Given the description of an element on the screen output the (x, y) to click on. 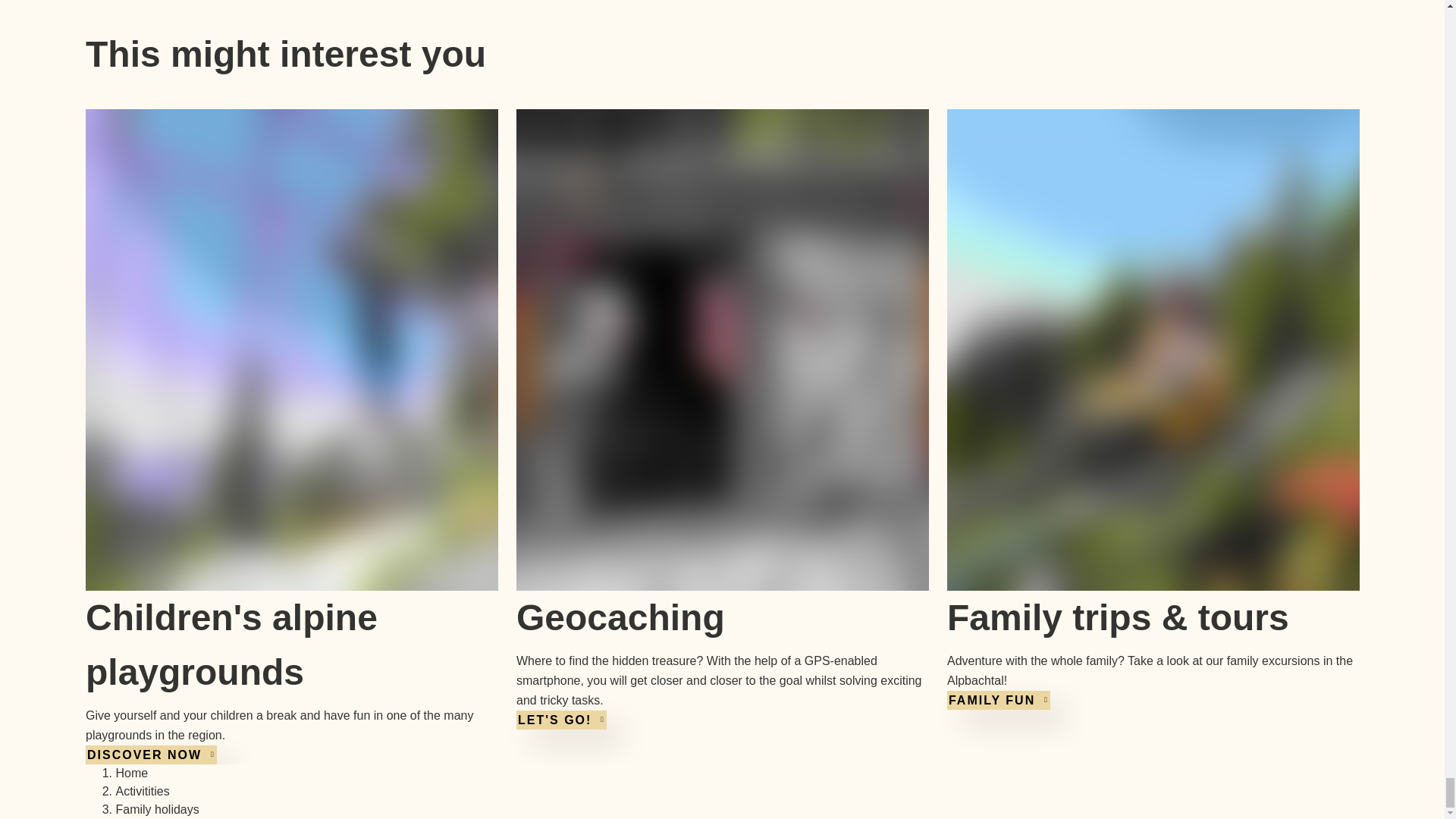
Geocaching (619, 617)
Children's alpine playgrounds (230, 644)
